Given the description of an element on the screen output the (x, y) to click on. 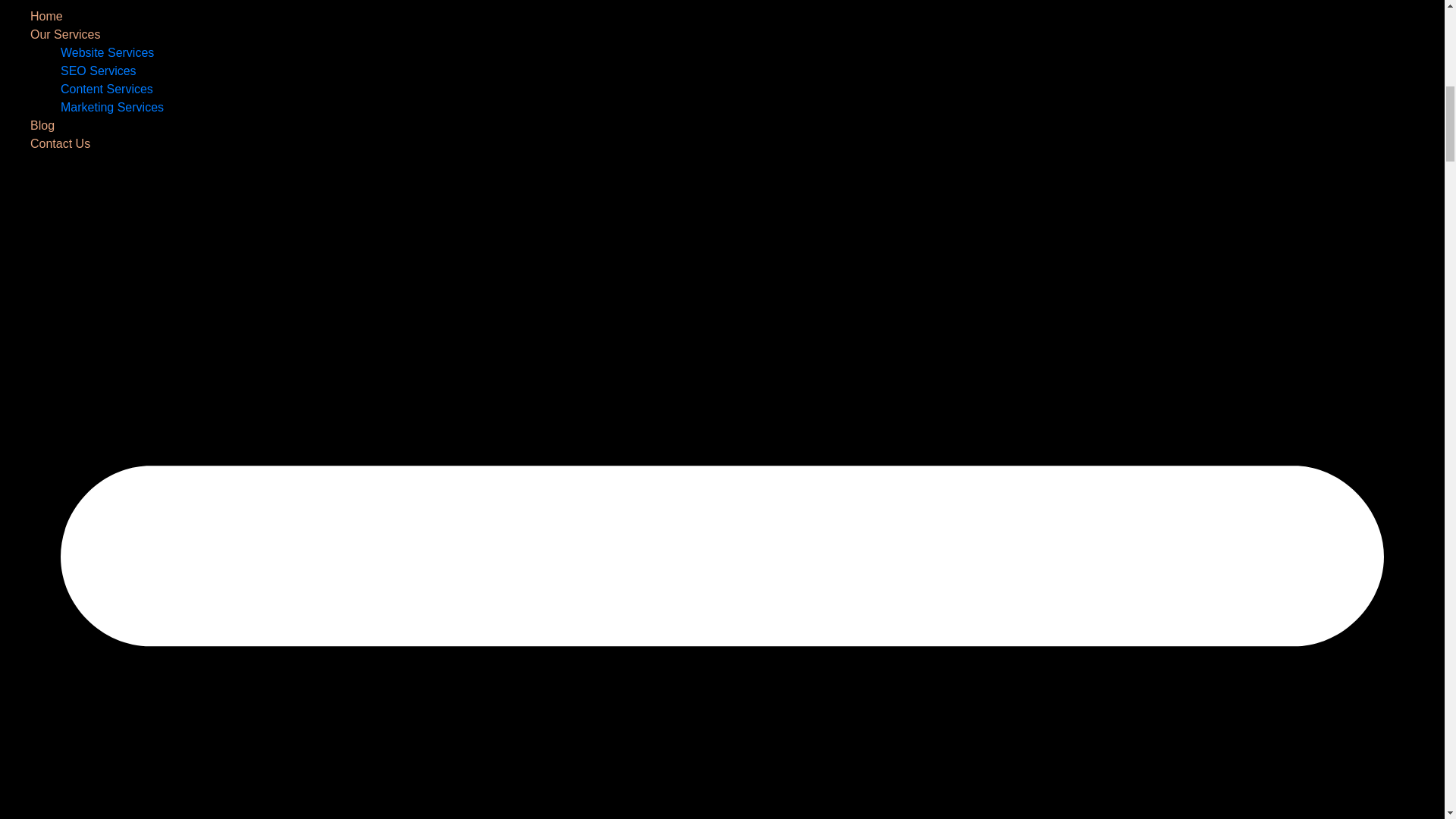
SEO Services (98, 70)
Content Services (106, 88)
Our Services (65, 33)
Home (46, 15)
Marketing Services (112, 106)
Website Services (107, 51)
Contact Us (60, 143)
Blog (42, 124)
